Given the description of an element on the screen output the (x, y) to click on. 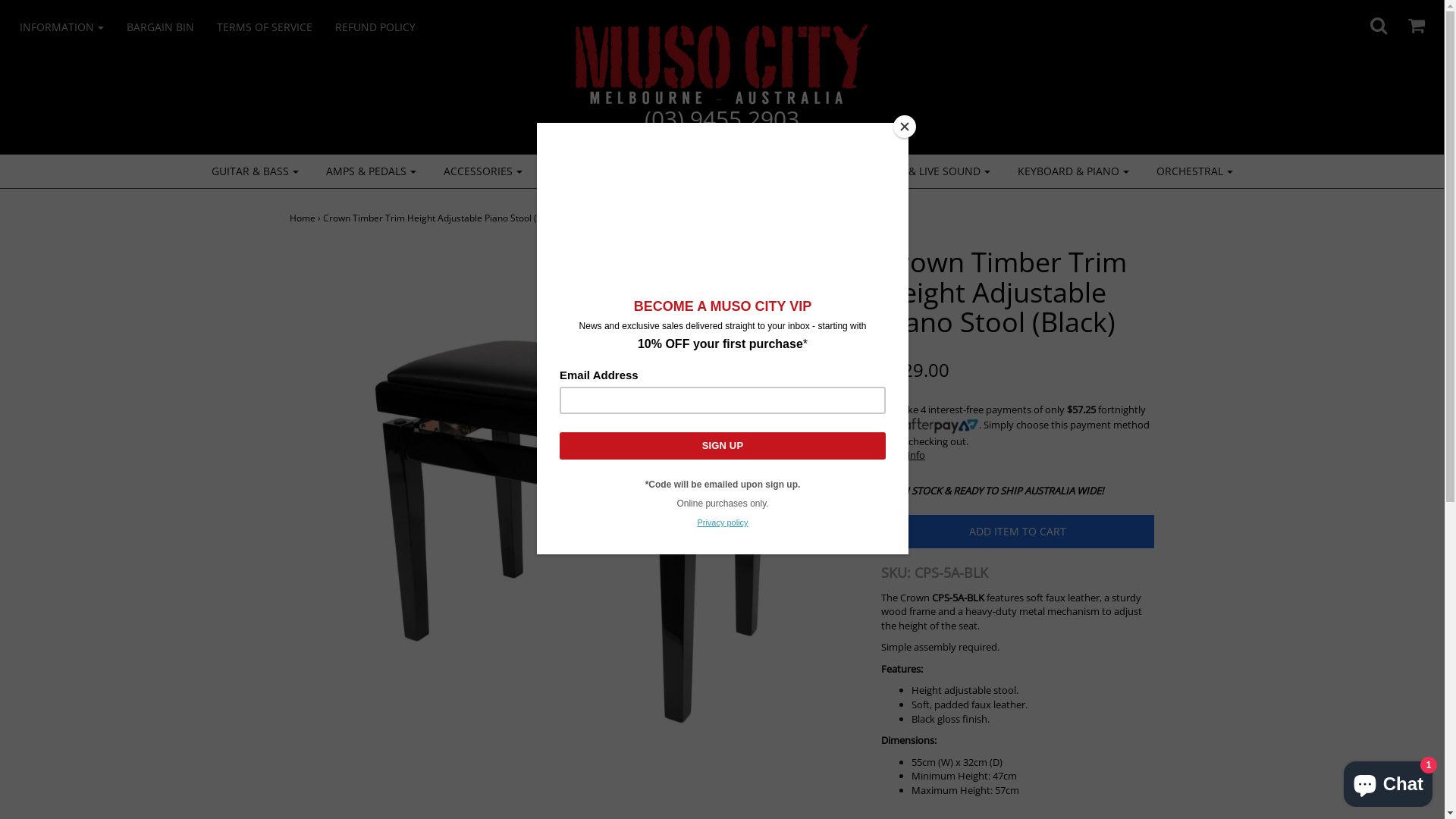
More info Element type: text (1017, 455)
FOLK INSTRUMENTS Element type: text (606, 171)
DRUMS & PERCUSSION Element type: text (752, 171)
Search Element type: hover (1368, 20)
INFORMATION Element type: text (72, 26)
ADD ITEM TO CART Element type: text (1017, 531)
Home Element type: text (302, 217)
REFUND POLICY Element type: text (386, 26)
RECORDING & LIVE SOUND Element type: text (916, 171)
GUITAR & BASS Element type: text (255, 171)
Shopify online store chat Element type: hover (1388, 780)
BARGAIN BIN Element type: text (171, 26)
AMPS & PEDALS Element type: text (369, 171)
TERMS OF SERVICE Element type: text (275, 26)
Your Cart Element type: hover (1406, 20)
ACCESSORIES Element type: text (482, 171)
KEYBOARD & PIANO Element type: text (1072, 171)
ORCHESTRAL Element type: text (1194, 171)
